Given the description of an element on the screen output the (x, y) to click on. 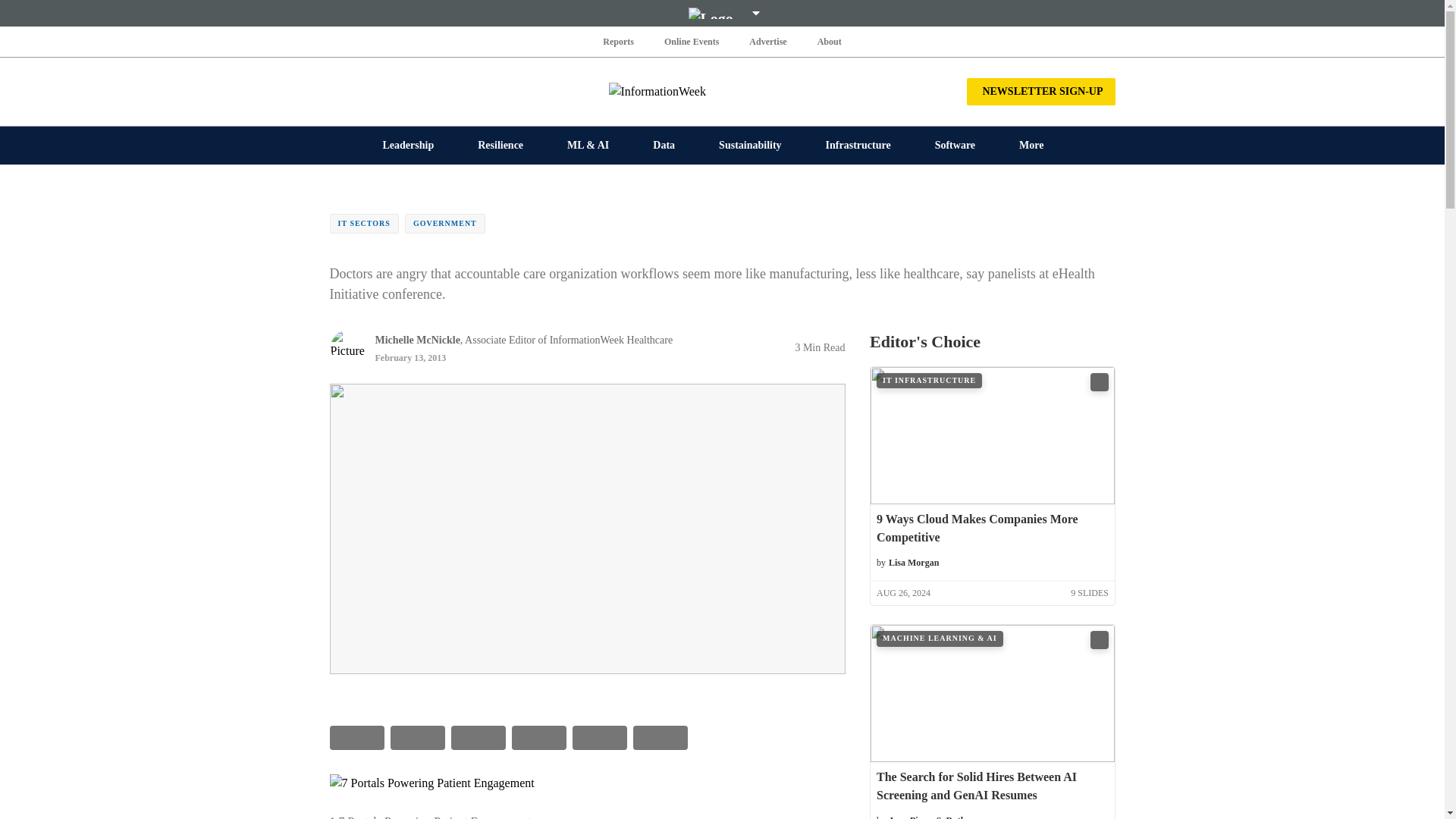
InformationWeek (721, 91)
NEWSLETTER SIGN-UP (1040, 90)
Advertise (767, 41)
Online Events (691, 41)
About (828, 41)
Reports (618, 41)
